Given the description of an element on the screen output the (x, y) to click on. 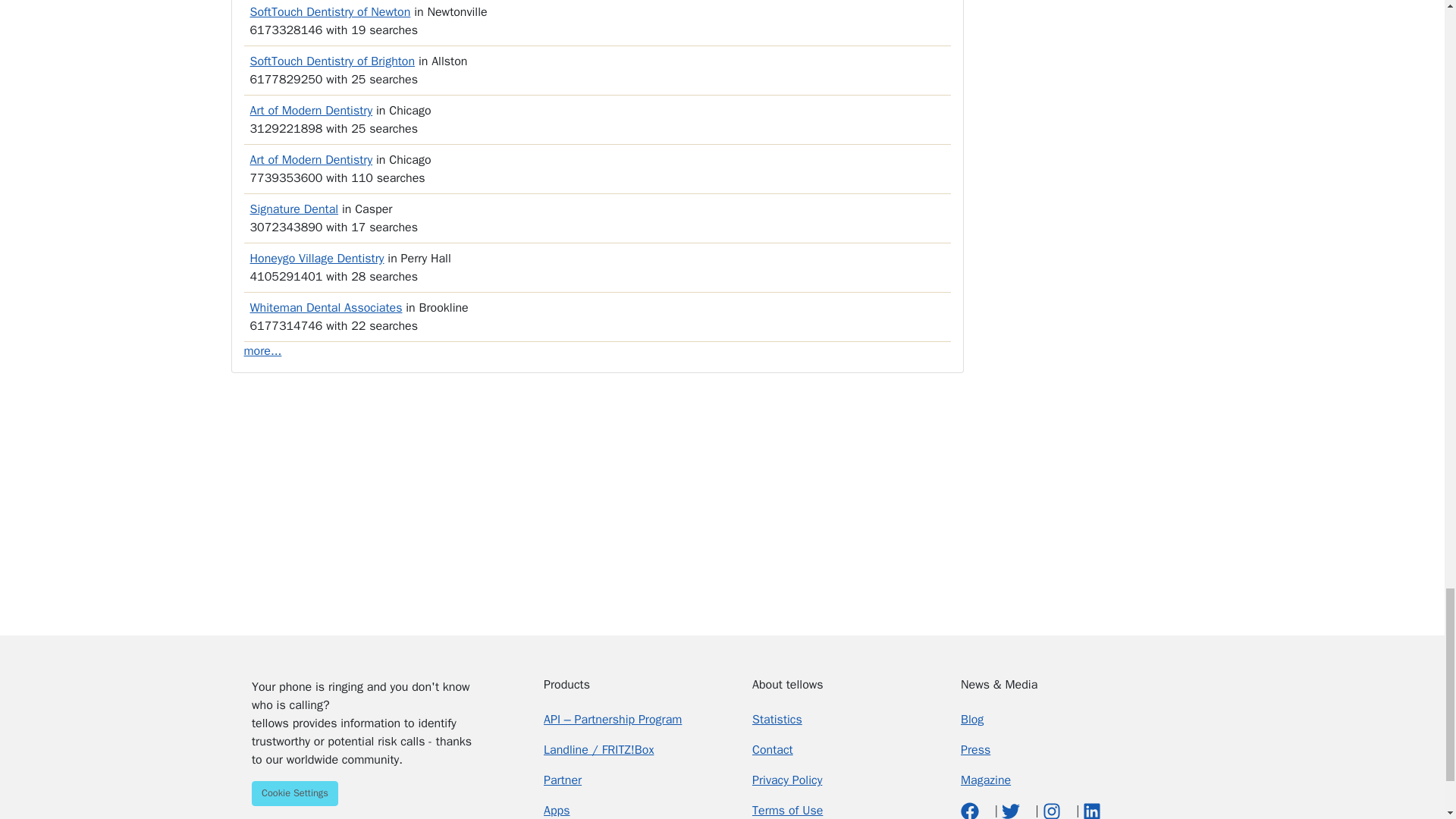
Magazin (985, 780)
Blog (972, 719)
Facebook (971, 810)
LinkedIn (1091, 810)
twitter (1012, 810)
Instagram (1053, 810)
Presse (975, 749)
